Given the description of an element on the screen output the (x, y) to click on. 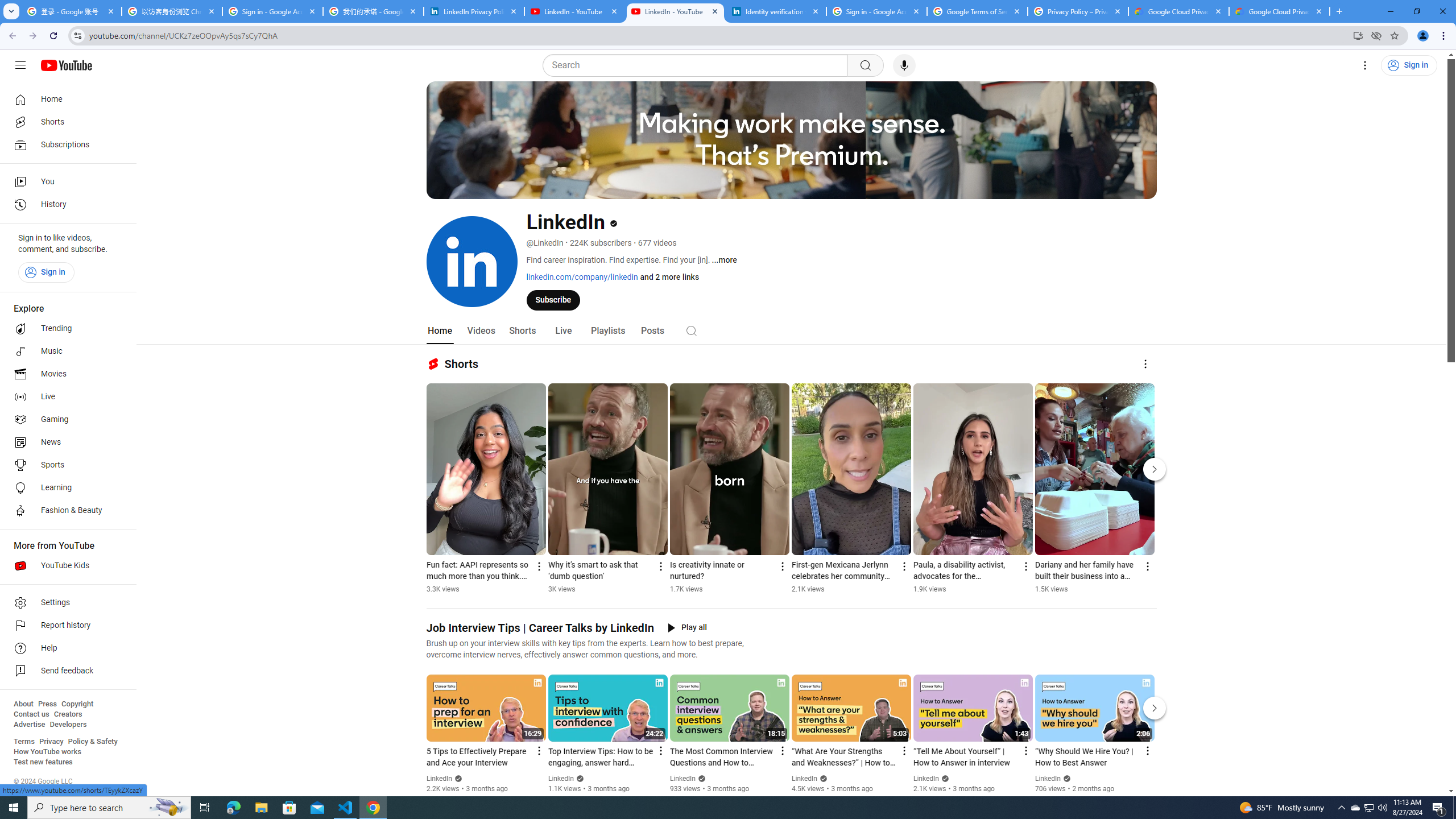
Google Cloud Privacy Notice (1178, 11)
Contact us (31, 714)
Identity verification via Persona | LinkedIn Help (775, 11)
Posts (652, 330)
Live (64, 396)
Gaming (64, 419)
How YouTube works (47, 751)
Learning (64, 487)
